Given the description of an element on the screen output the (x, y) to click on. 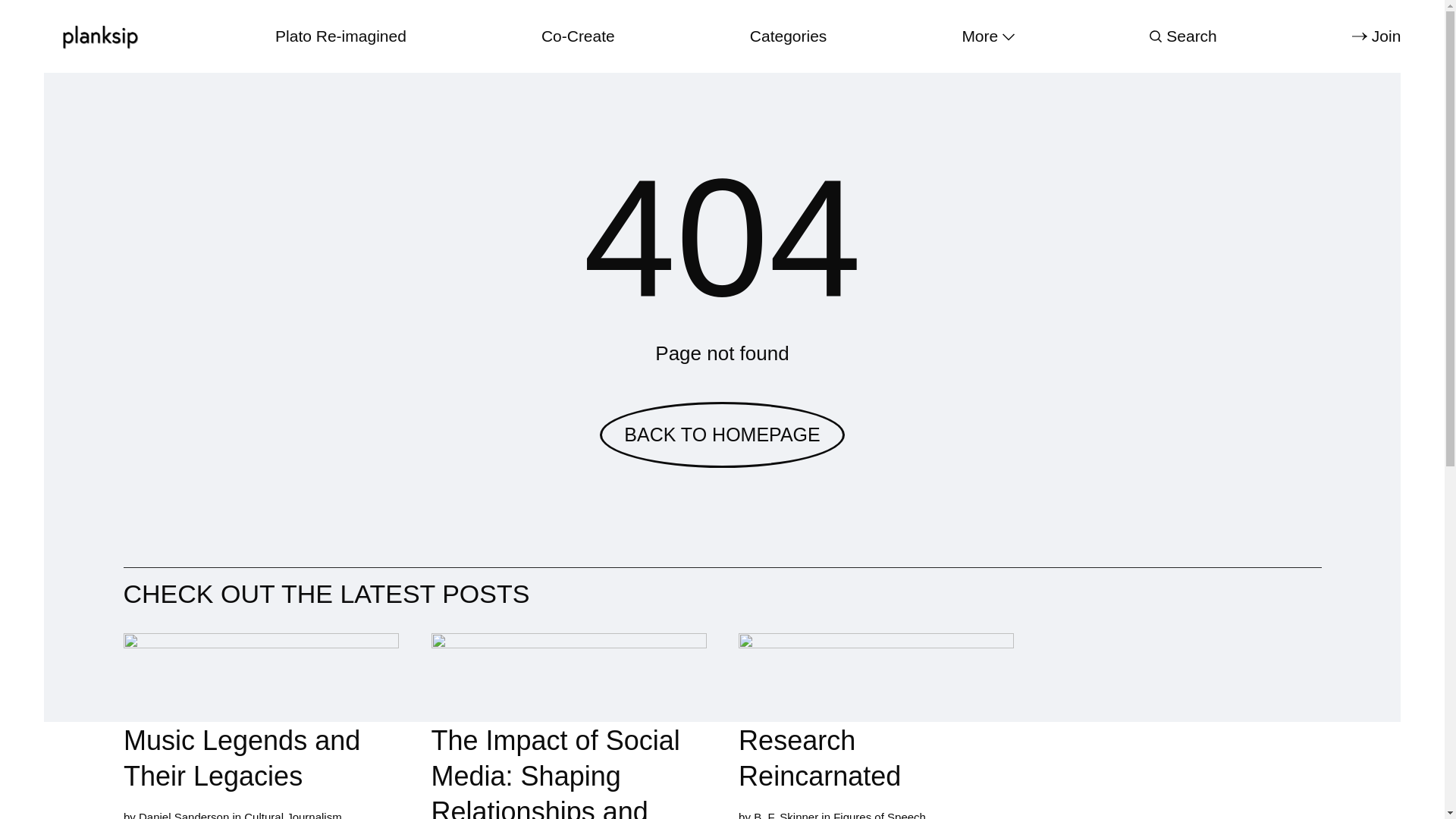
Cultural Journalism (292, 816)
BACK TO HOMEPAGE (721, 434)
Join (1376, 36)
Categories (788, 36)
B. F. Skinner (786, 815)
Music Legends and Their Legacies (259, 717)
Nicely Stated! (1182, 726)
Daniel Sanderson (183, 816)
Research Reincarnated (875, 714)
Co-Create (577, 36)
